Given the description of an element on the screen output the (x, y) to click on. 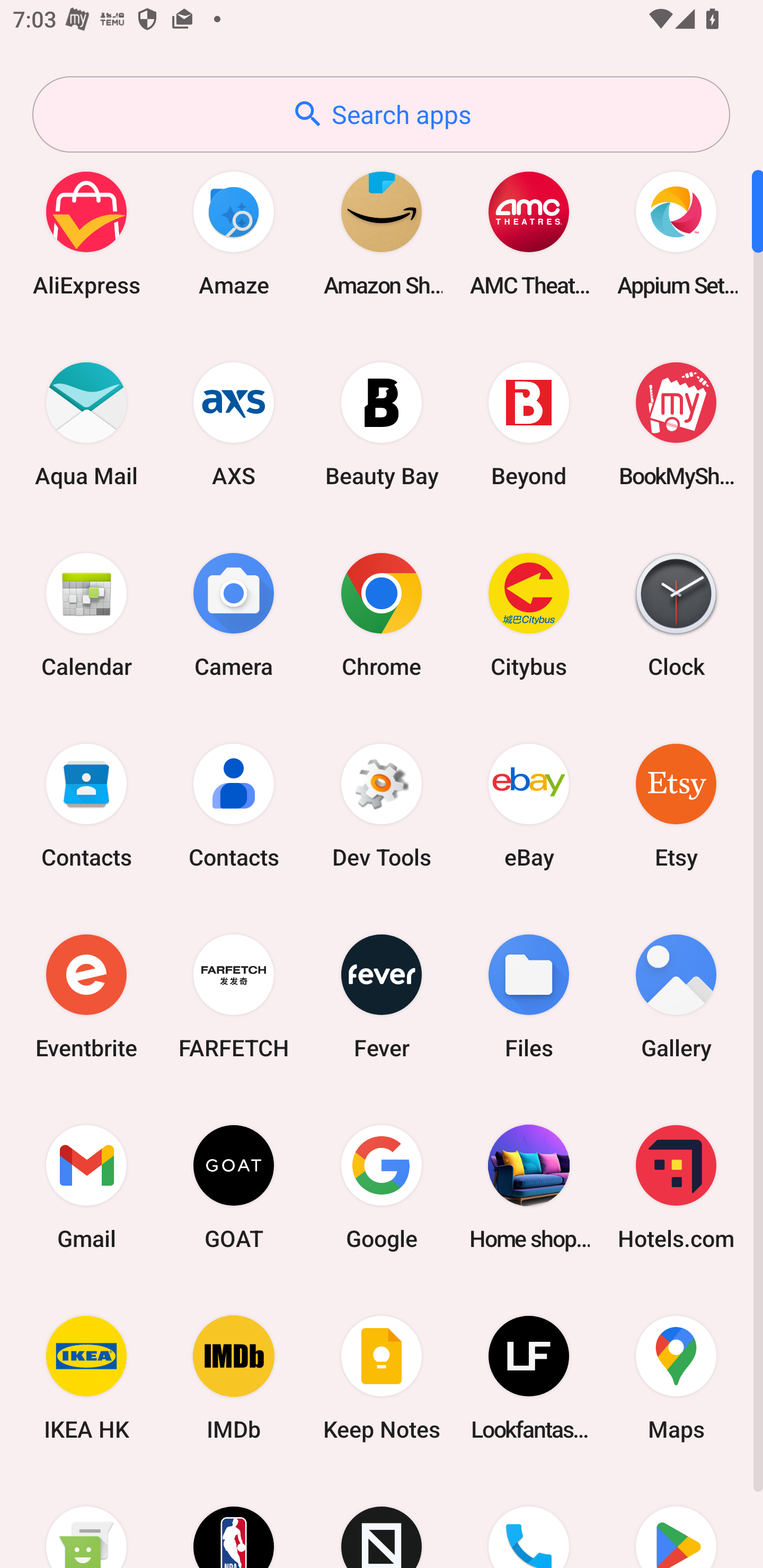
  Search apps (381, 114)
AliExpress (86, 233)
Amaze (233, 233)
Amazon Shopping (381, 233)
AMC Theatres (528, 233)
Appium Settings (676, 233)
Aqua Mail (86, 424)
AXS (233, 424)
Beauty Bay (381, 424)
Beyond (528, 424)
BookMyShow (676, 424)
Calendar (86, 614)
Camera (233, 614)
Chrome (381, 614)
Citybus (528, 614)
Clock (676, 614)
Contacts (86, 805)
Contacts (233, 805)
Dev Tools (381, 805)
eBay (528, 805)
Etsy (676, 805)
Eventbrite (86, 996)
FARFETCH (233, 996)
Fever (381, 996)
Files (528, 996)
Gallery (676, 996)
Gmail (86, 1186)
GOAT (233, 1186)
Google (381, 1186)
Home shopping (528, 1186)
Hotels.com (676, 1186)
IKEA HK (86, 1377)
IMDb (233, 1377)
Keep Notes (381, 1377)
Lookfantastic (528, 1377)
Maps (676, 1377)
Messaging (86, 1520)
NBA (233, 1520)
Novelship (381, 1520)
Phone (528, 1520)
Play Store (676, 1520)
